Given the description of an element on the screen output the (x, y) to click on. 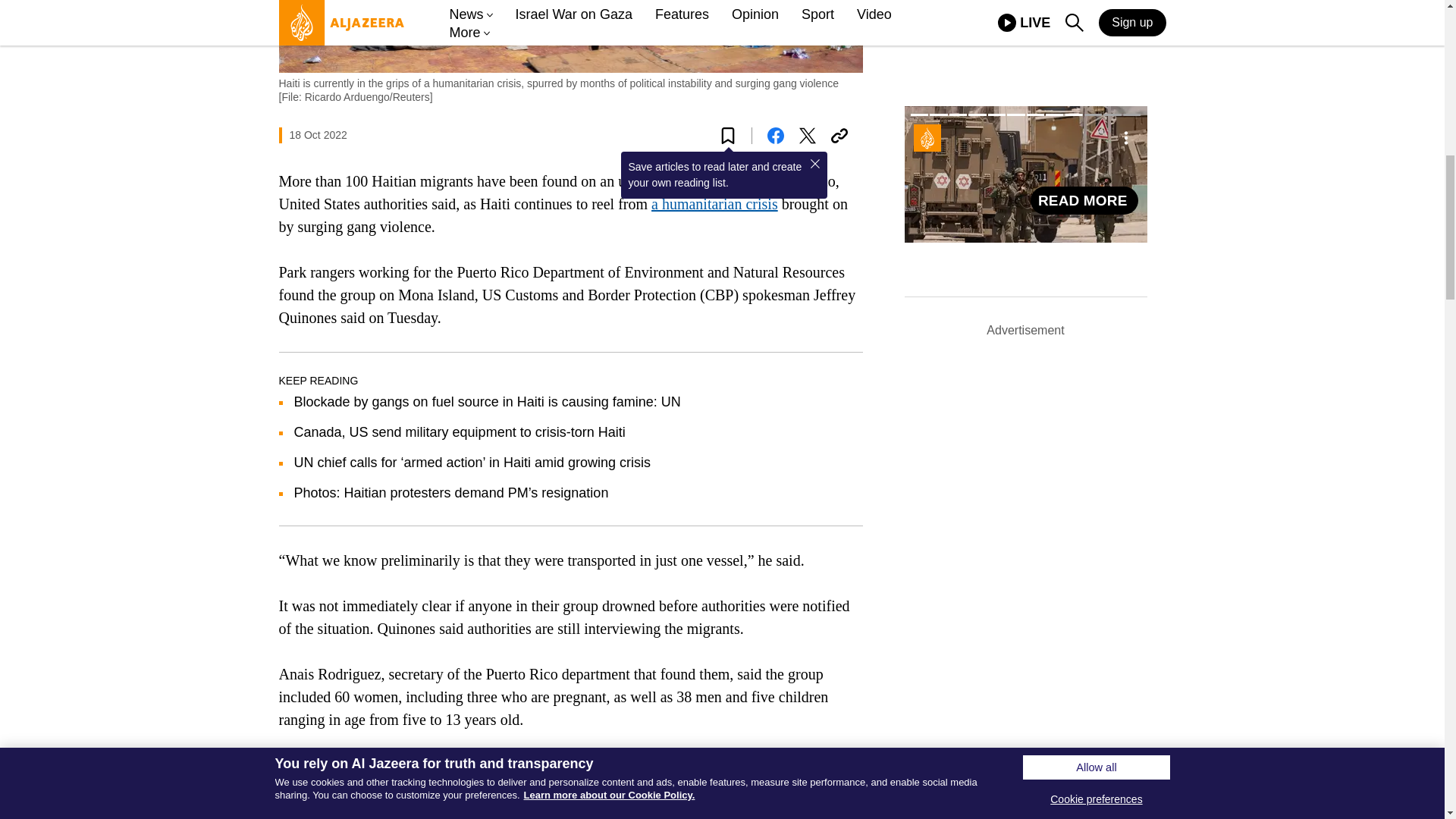
facebook (775, 135)
a humanitarian crisis (713, 203)
copylink (839, 135)
facebook (775, 135)
twitter (807, 135)
twitter (807, 135)
Close Tooltip (814, 163)
copylink (839, 135)
